Given the description of an element on the screen output the (x, y) to click on. 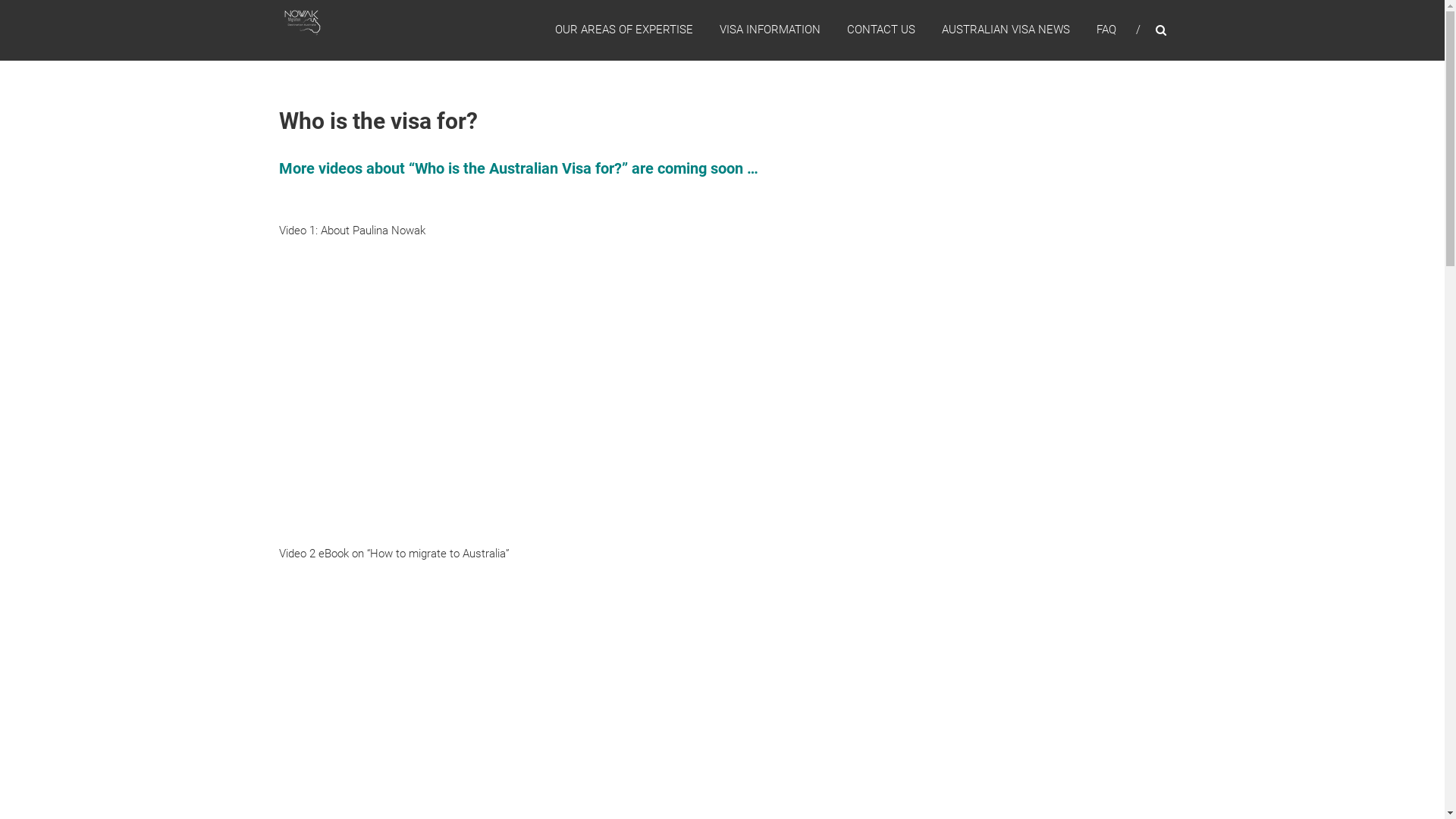
FAQ Element type: text (1106, 29)
CONTACT US Element type: text (880, 29)
Search Element type: text (1231, 409)
VISA INFORMATION Element type: text (768, 29)
AUSTRALIAN VISA NEWS Element type: text (1005, 29)
OUR AREAS OF EXPERTISE Element type: text (624, 29)
